Given the description of an element on the screen output the (x, y) to click on. 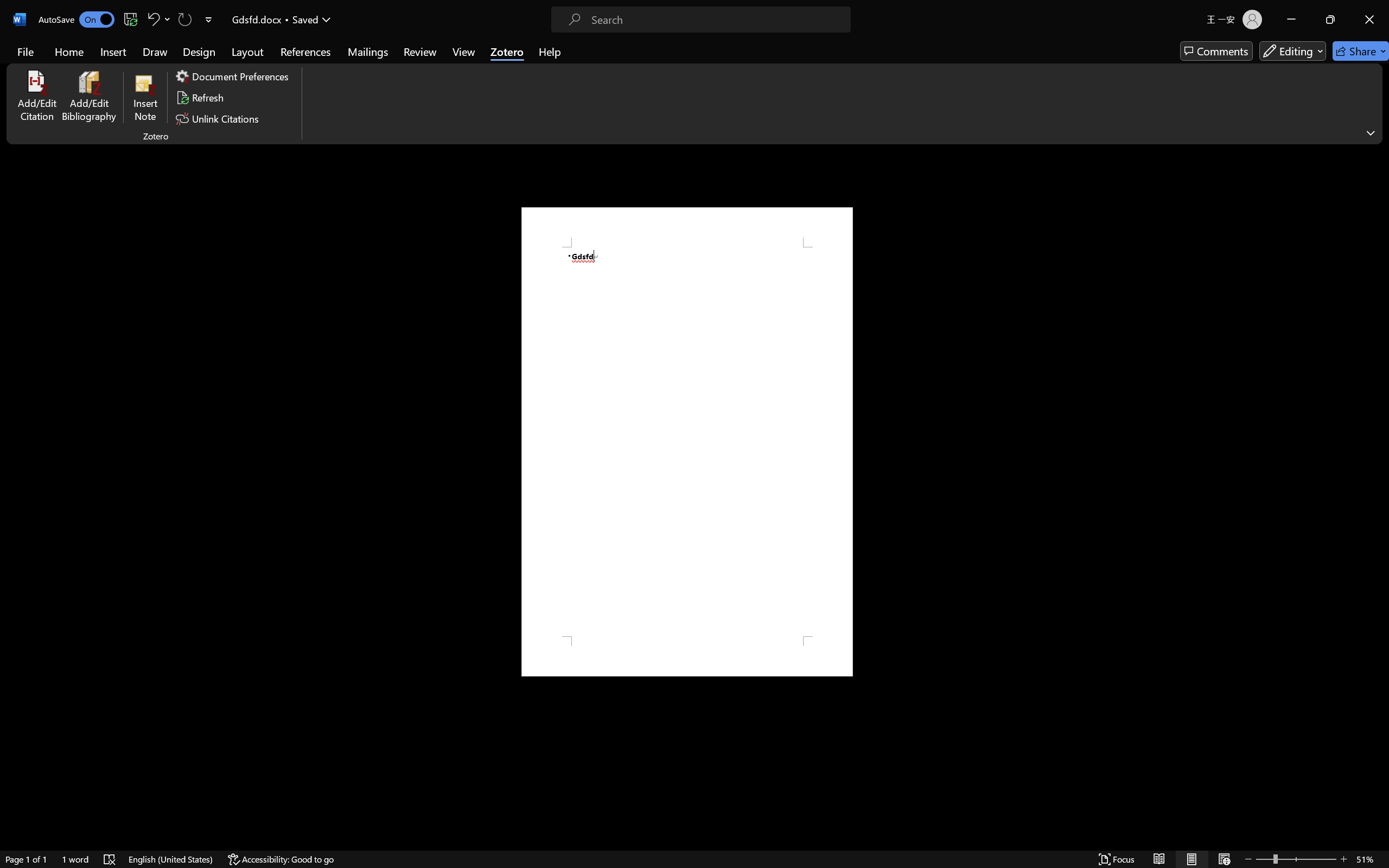
Action Center, 1 new notification (1372, 855)
Type here to search (103, 855)
Search highlights icon opens search home window (159, 855)
Zoom 158% (1364, 837)
66% (663, 437)
Microsoft search (708, 10)
Save as Show (292, 62)
User Promoted Notification Area (1281, 855)
Less (737, 394)
